Given the description of an element on the screen output the (x, y) to click on. 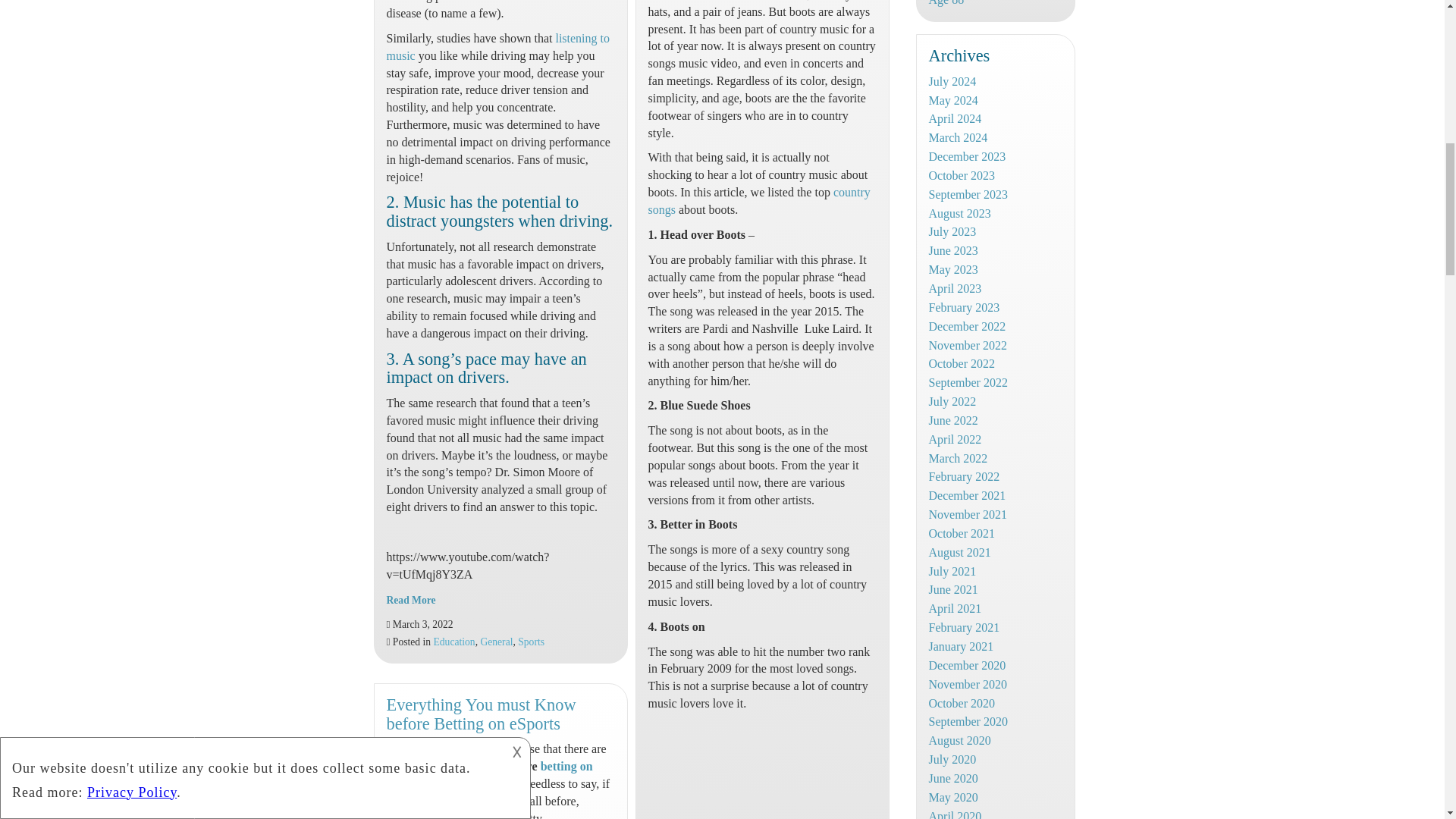
Everything You must Know before Betting on eSports (481, 714)
listening to music (498, 46)
The Impact of Music When Driving (411, 600)
betting on eSports (489, 775)
Everything You must Know before Betting on eSports (481, 714)
Education (454, 641)
Why You Should Exercise With Music (498, 46)
Read More (411, 600)
country songs (758, 200)
General (496, 641)
Sports (531, 641)
